Given the description of an element on the screen output the (x, y) to click on. 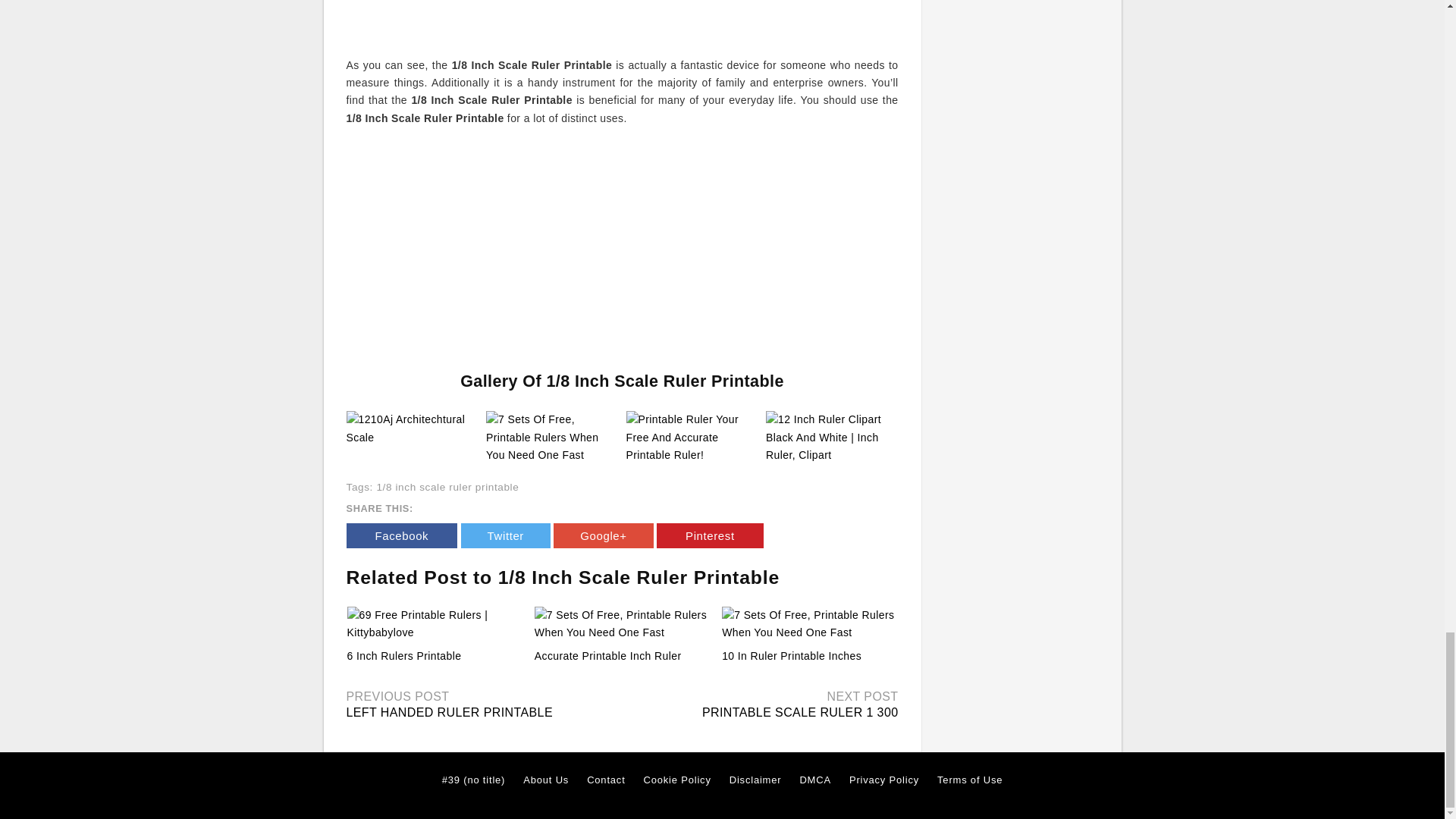
12 inch ruler clipart black and white inch ruler clipart 6 (622, 20)
1210Aj Architechtural Scale (412, 427)
6 Inch Rulers Printable (434, 624)
Printable Ruler   Your Free And Accurate Printable Ruler! (692, 436)
6 Inch Rulers Printable (404, 655)
Accurate Printable Inch Ruler (607, 655)
7 Sets Of Free, Printable Rulers When You Need One Fast (552, 436)
10 In Ruler Printable Inches (791, 655)
Accurate Printable Inch Ruler (607, 655)
1210Aj Architechtural Scale (412, 428)
10 In Ruler Printable Inches (809, 624)
Accurate Printable Inch Ruler (622, 624)
6 Inch Rulers Printable (404, 655)
Facebook (401, 535)
Twitter (505, 535)
